Given the description of an element on the screen output the (x, y) to click on. 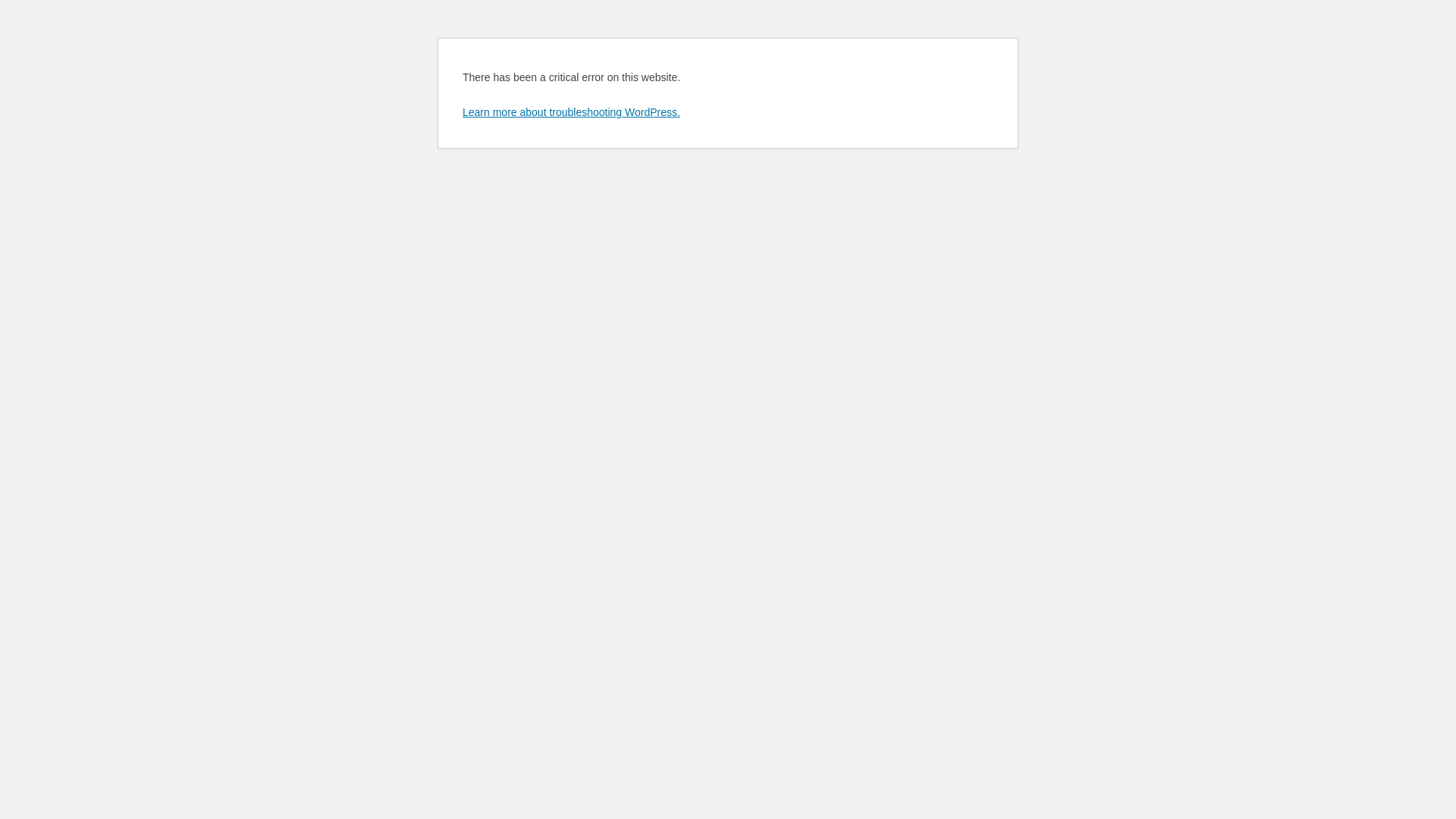
Learn more about troubleshooting WordPress. Element type: text (571, 112)
